Given the description of an element on the screen output the (x, y) to click on. 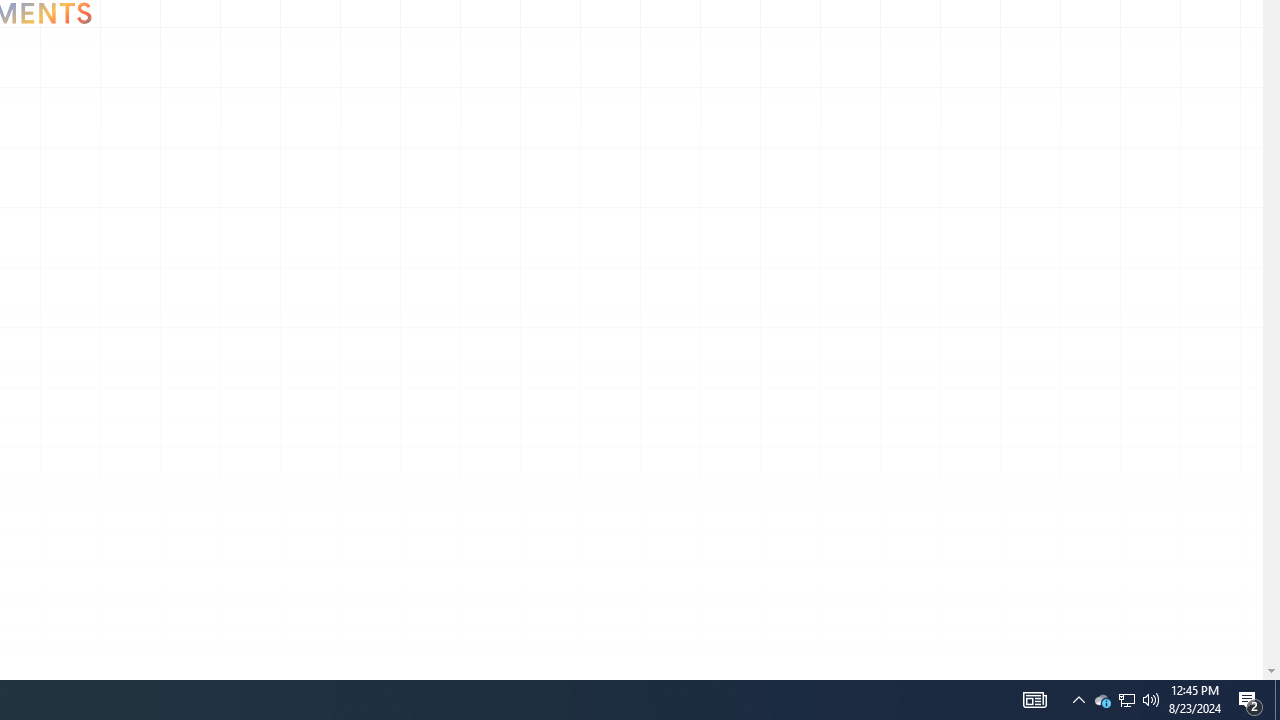
Go to Arts & Culture (140, 103)
